Given the description of an element on the screen output the (x, y) to click on. 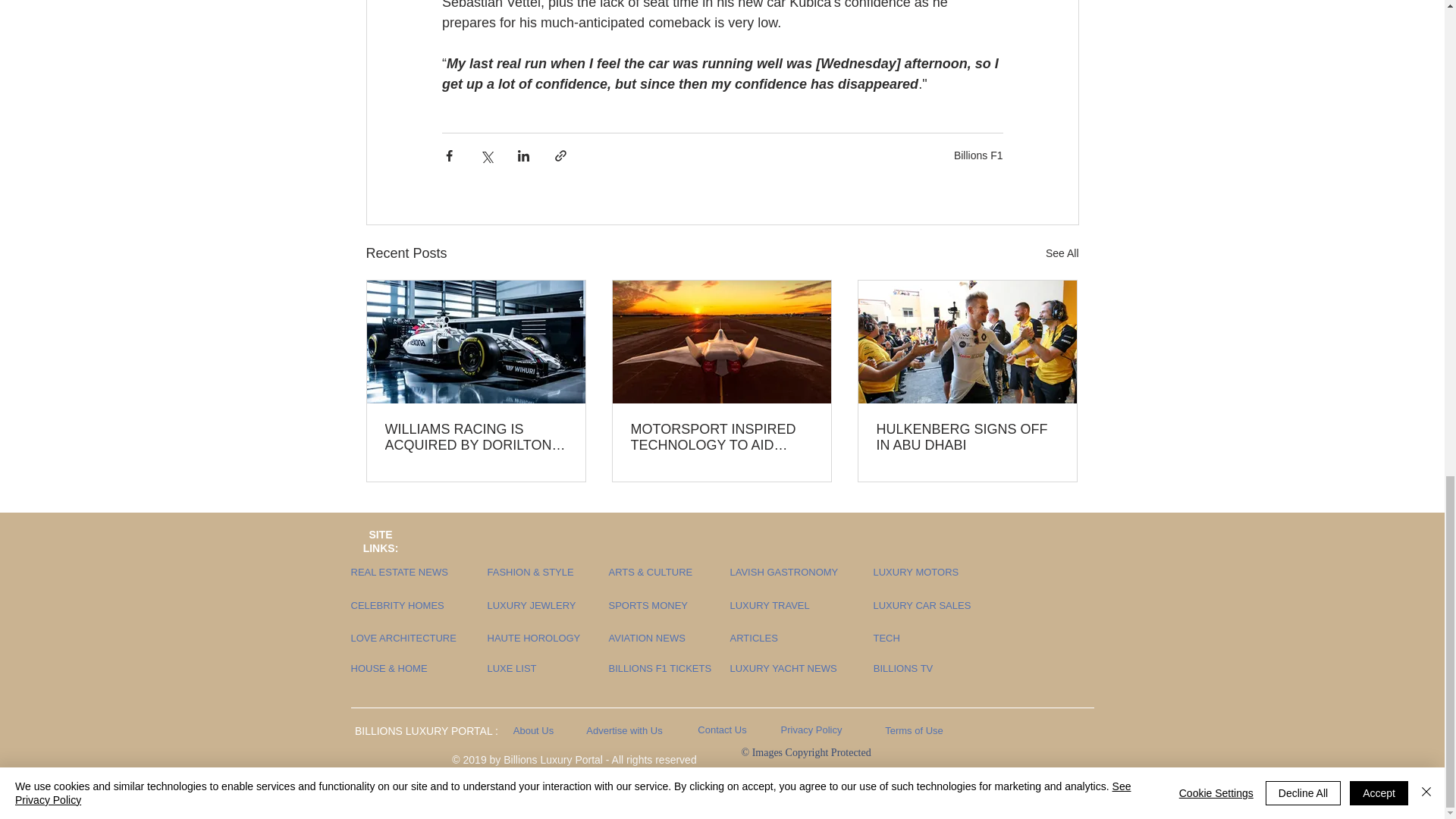
HULKENBERG SIGNS OFF IN ABU DHABI (967, 437)
See All (1061, 253)
Billions F1 (978, 155)
WILLIAMS RACING IS ACQUIRED BY DORILTON CAPITAL (476, 437)
